Given the description of an element on the screen output the (x, y) to click on. 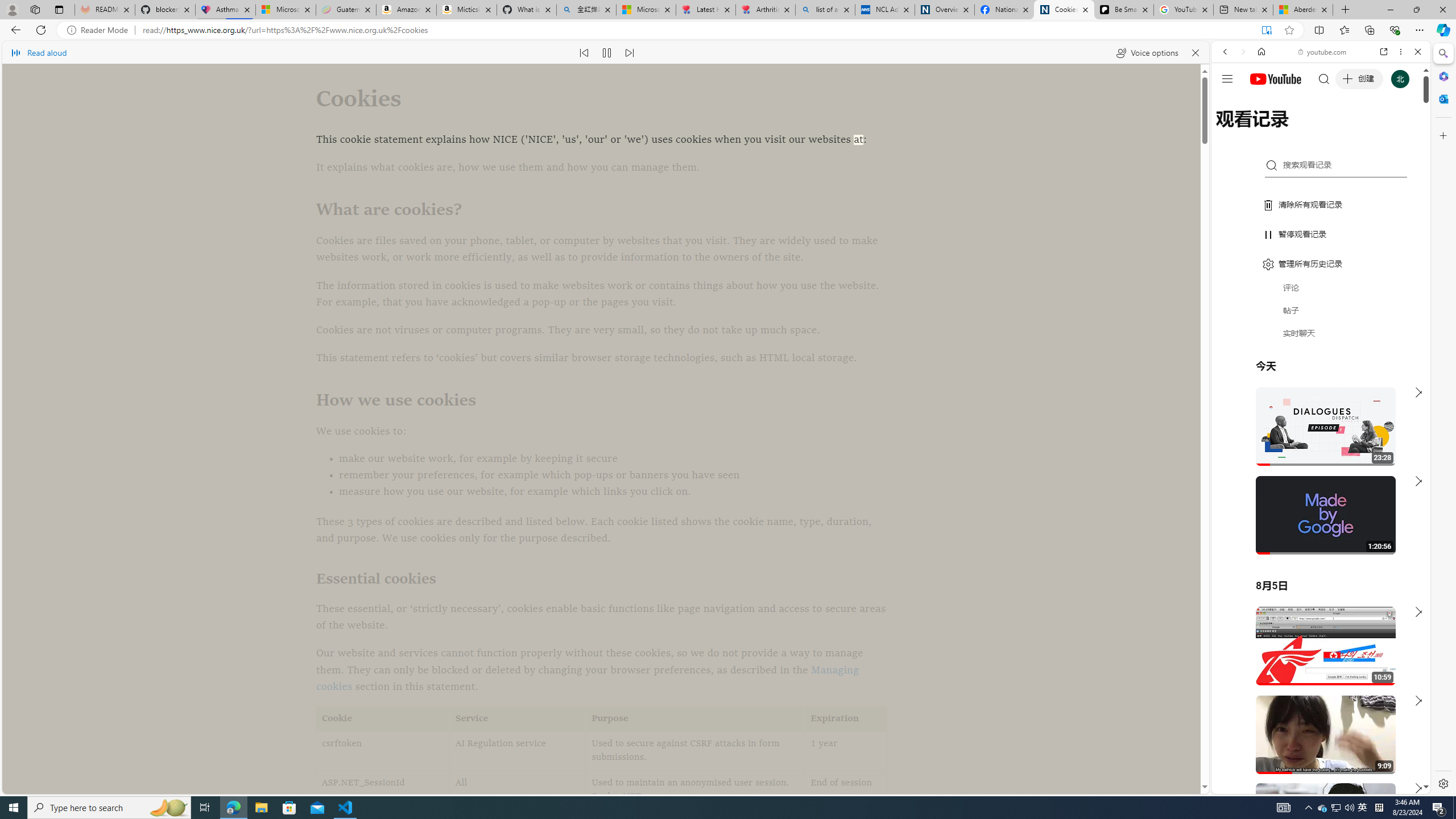
Class: dict_pnIcon rms_img (1312, 784)
Aberdeen, Hong Kong SAR hourly forecast | Microsoft Weather (1303, 9)
Voice options (1146, 52)
YouTube - YouTube (1315, 560)
Search Filter, Search Tools (1350, 129)
Expiration (844, 718)
Managing cookies (587, 678)
Reader Mode (100, 29)
